Given the description of an element on the screen output the (x, y) to click on. 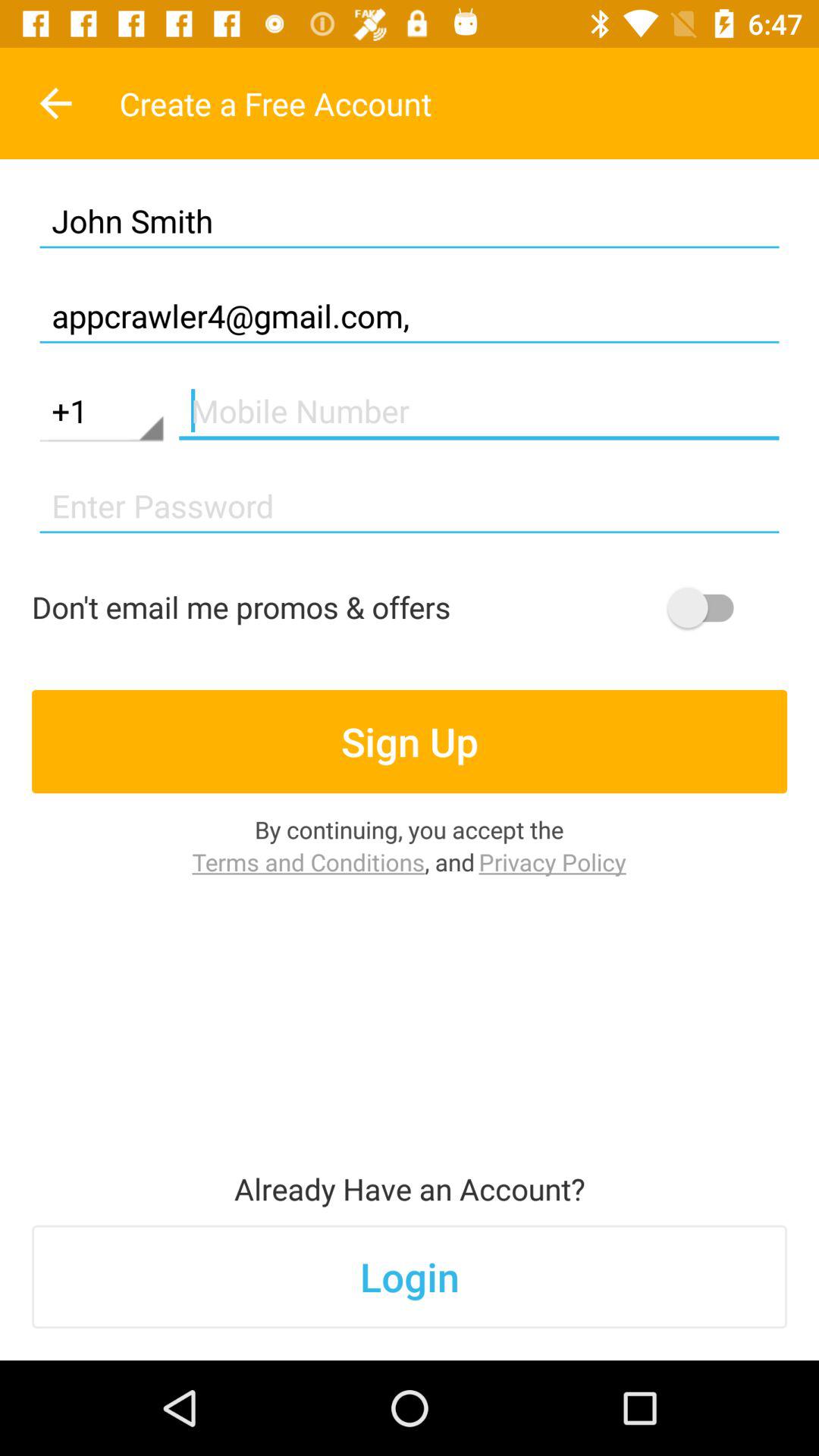
password line (409, 506)
